Given the description of an element on the screen output the (x, y) to click on. 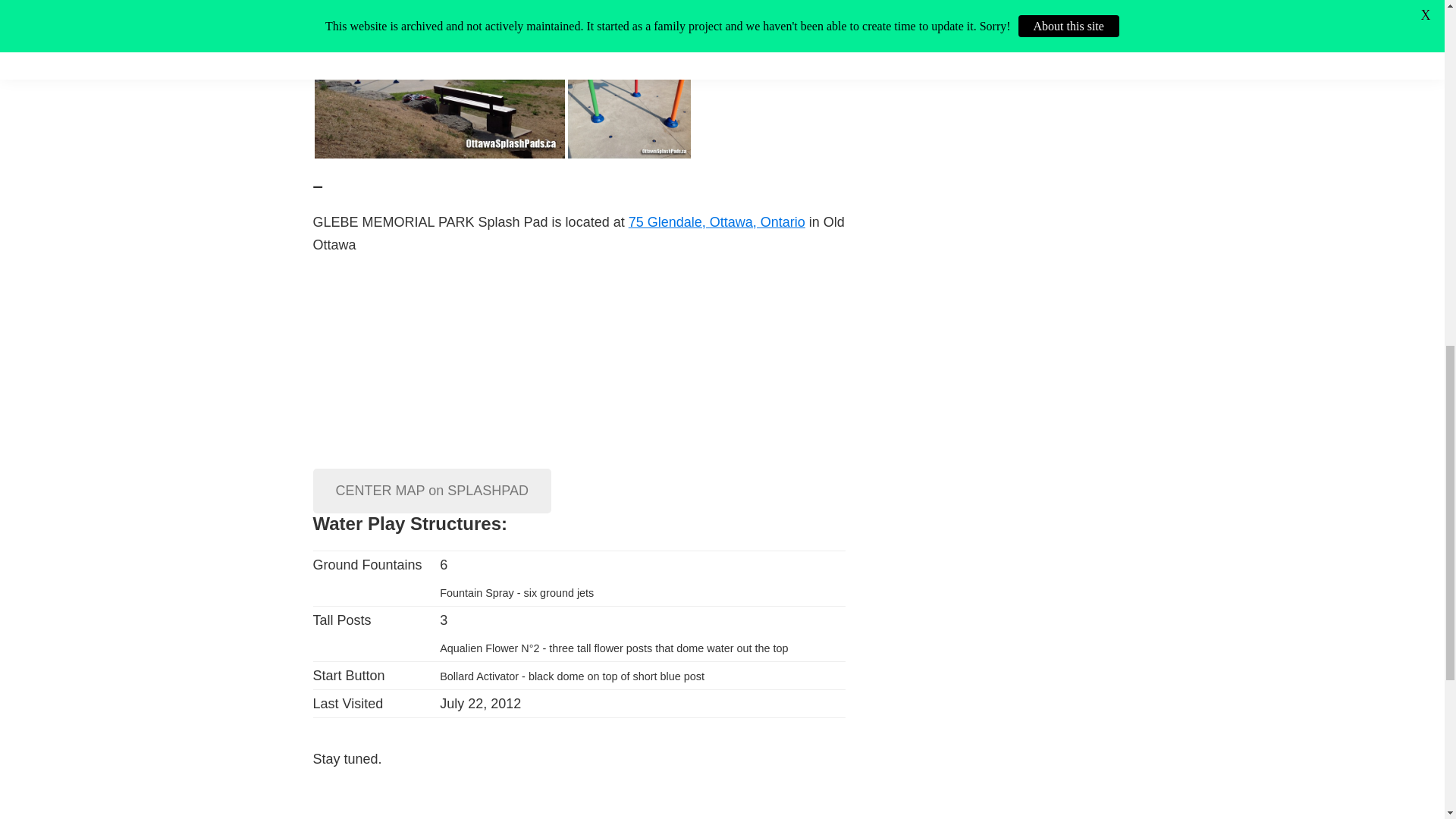
glebe-memorial-park-20120722-3 (628, 112)
glebe-memorial-park-20120722-1 (439, 79)
glebe-memorial-park-20120722-2 (628, 31)
75 Glendale, Ottawa, Ontario (716, 222)
CENTER MAP on SPLASHPAD (431, 490)
